Given the description of an element on the screen output the (x, y) to click on. 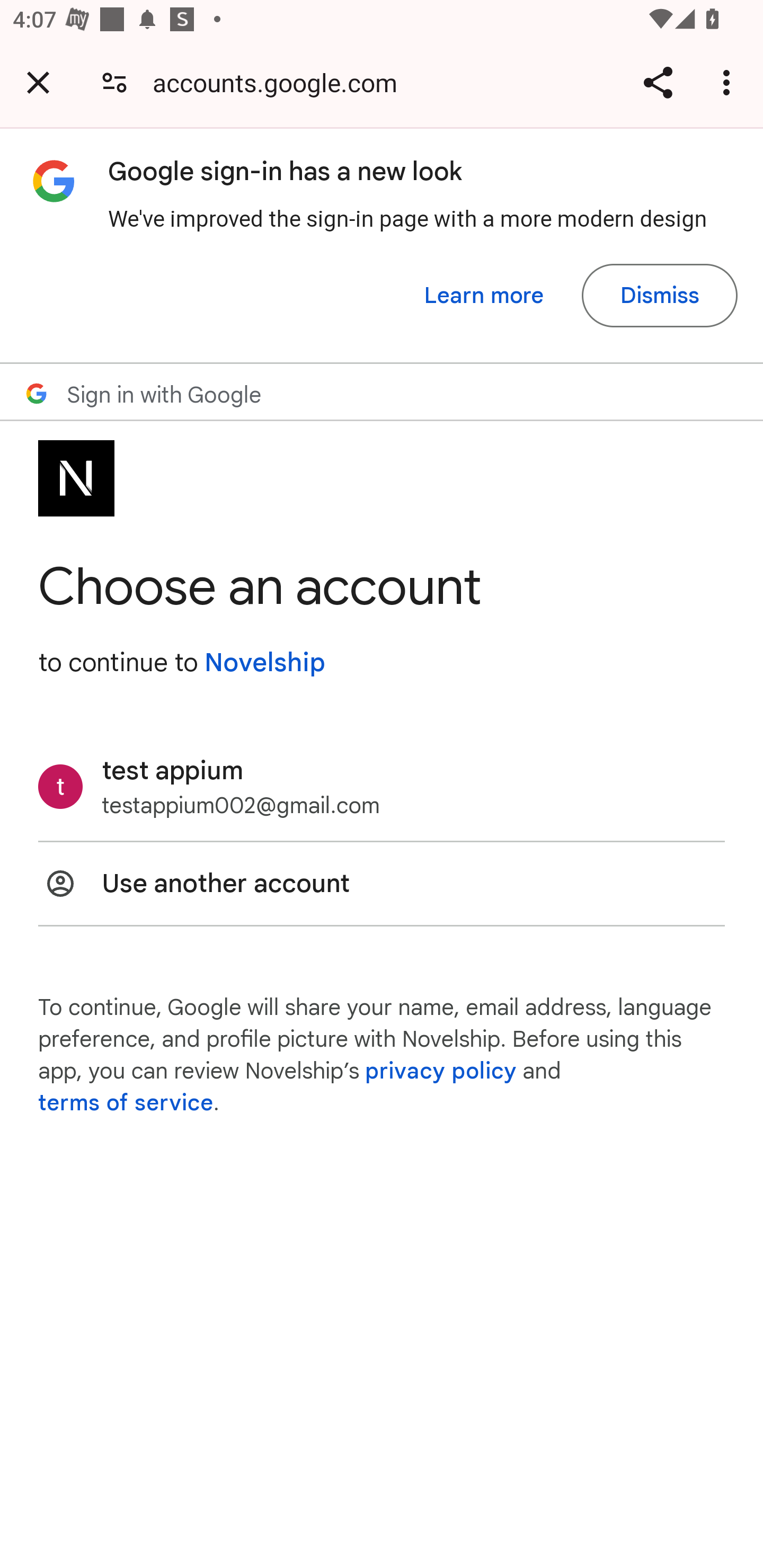
Close tab (38, 82)
Share (657, 82)
Customize and control Google Chrome (729, 82)
Connection is secure (114, 81)
accounts.google.com (281, 81)
Learn more (483, 295)
Dismiss (659, 295)
Novelship (264, 662)
Use another account (381, 883)
privacy policy (440, 1070)
terms of service (126, 1102)
